Given the description of an element on the screen output the (x, y) to click on. 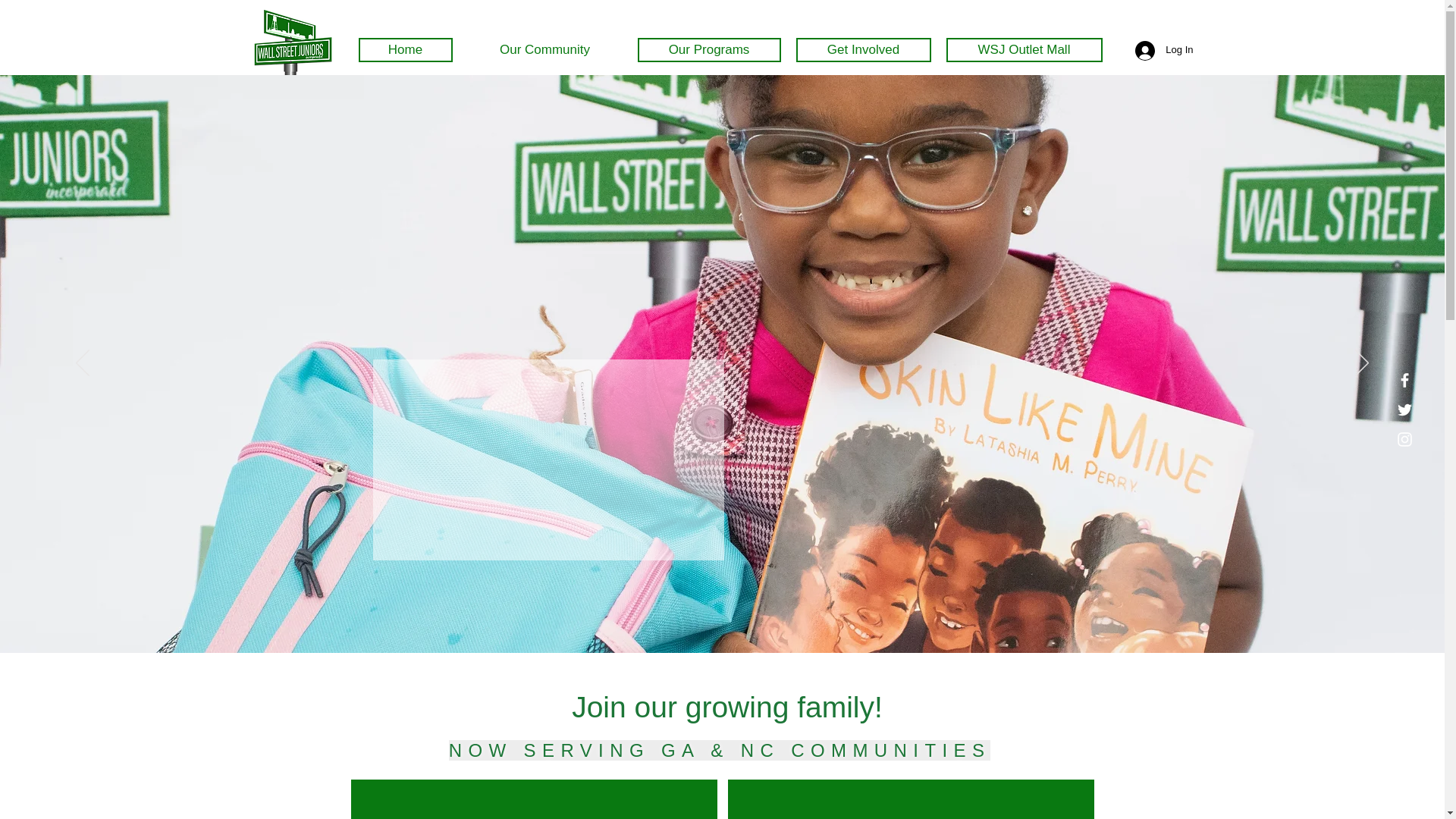
Our Community (544, 49)
Home (404, 49)
Log In (1164, 50)
Get Involved (863, 49)
WSJ Outlet Mall (1024, 49)
Our Programs (708, 49)
